Given the description of an element on the screen output the (x, y) to click on. 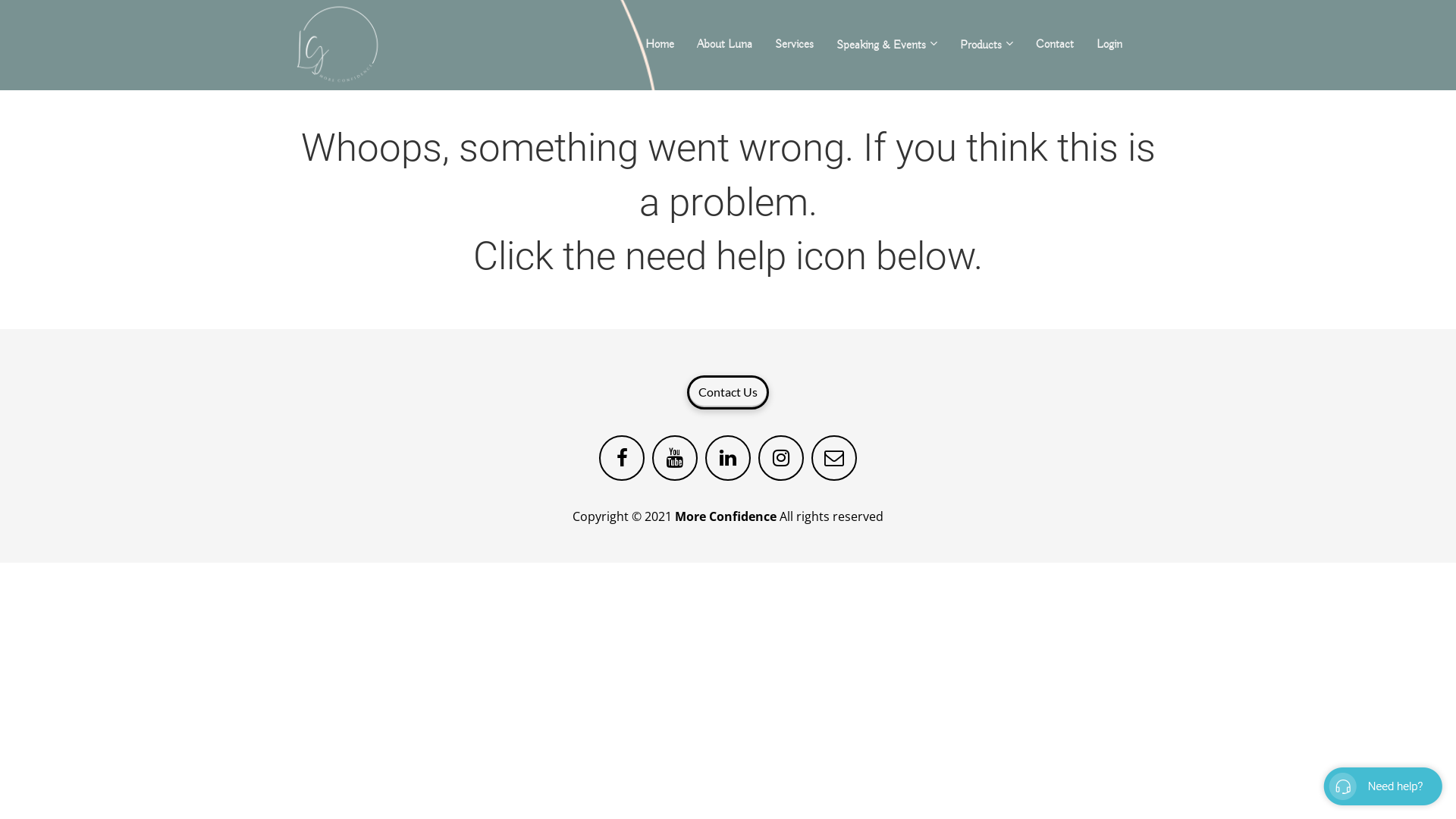
Contact Us Element type: text (727, 392)
Speaking & Events Element type: text (886, 44)
Products Element type: text (986, 44)
About Luna Element type: text (724, 44)
Services Element type: text (794, 44)
Contact Element type: text (1054, 44)
Home Element type: text (659, 44)
Login Element type: text (1109, 44)
